Given the description of an element on the screen output the (x, y) to click on. 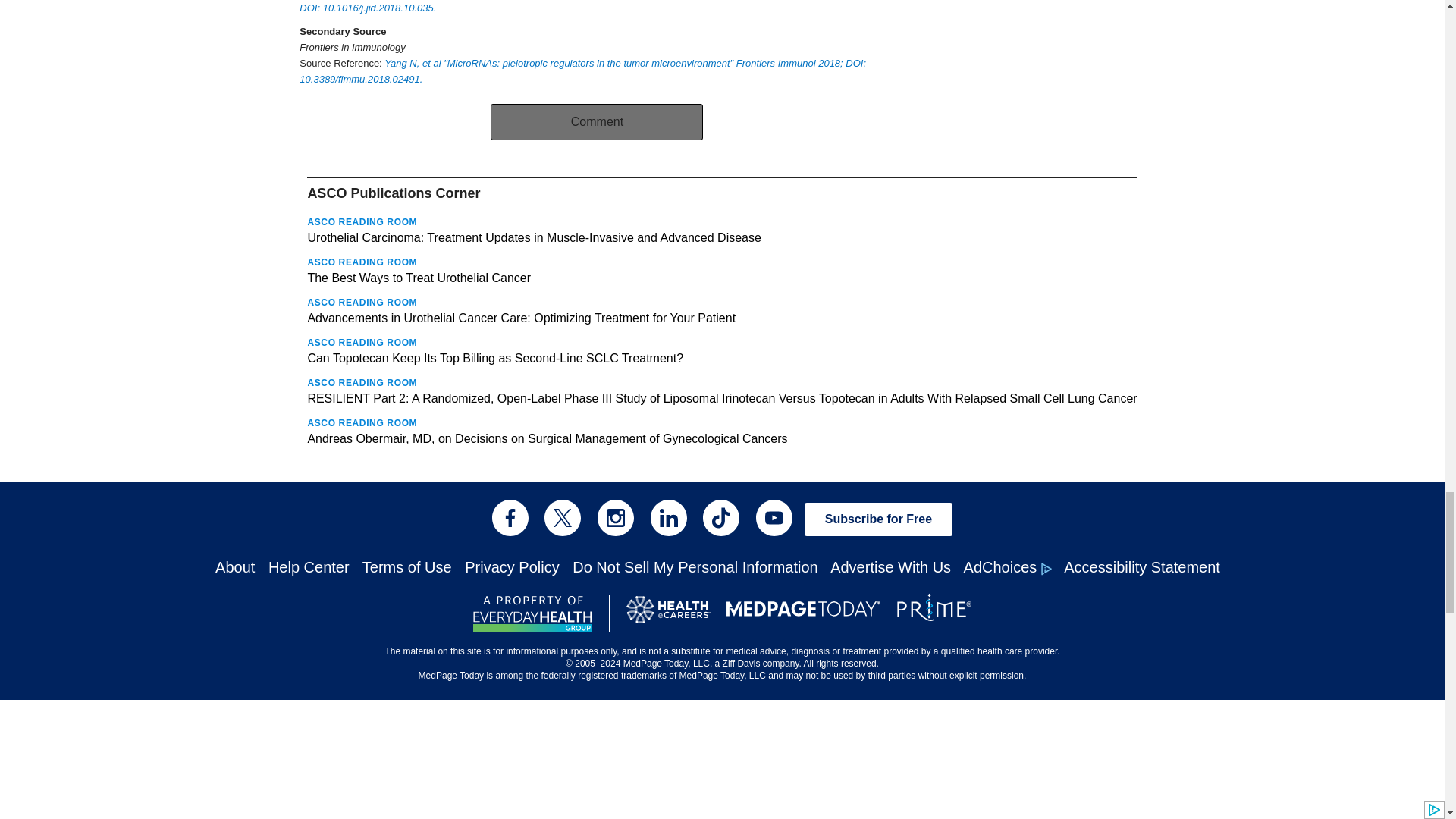
Opens in a new tab or window (589, 6)
Opens in a new tab or window (582, 71)
